Given the description of an element on the screen output the (x, y) to click on. 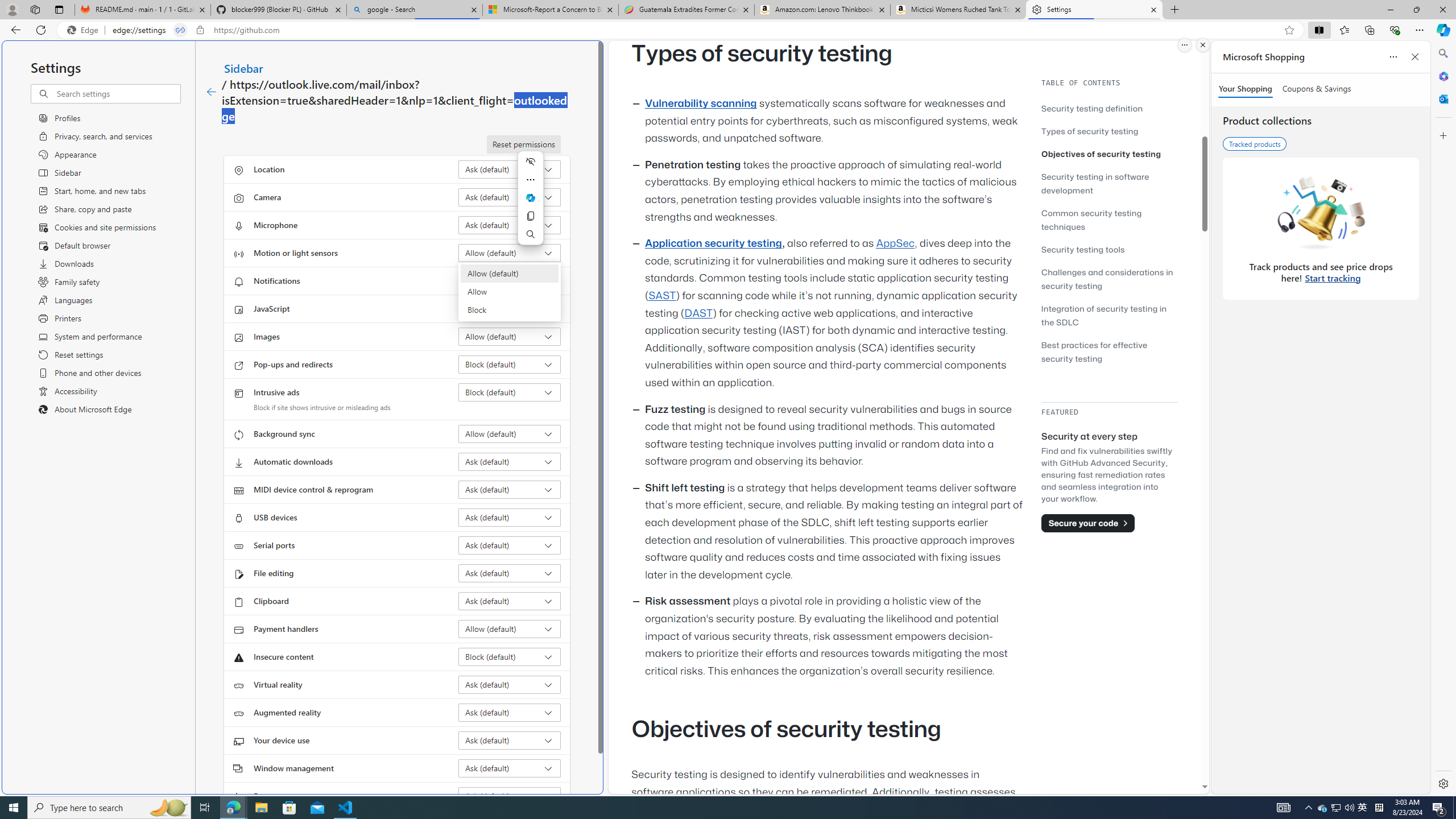
Favorites (1344, 29)
Virtual reality Ask (default) (509, 684)
Block (509, 309)
Search settings (117, 93)
Challenges and considerations in security testing (1107, 278)
Sidebar (243, 67)
Your device use Ask (default) (509, 740)
google - Search (414, 9)
Refresh (40, 29)
Notifications Ask (default) (509, 280)
Allow (default) (509, 273)
Augmented reality Ask (default) (509, 712)
File editing Ask (default) (509, 573)
Restore (1416, 9)
